Given the description of an element on the screen output the (x, y) to click on. 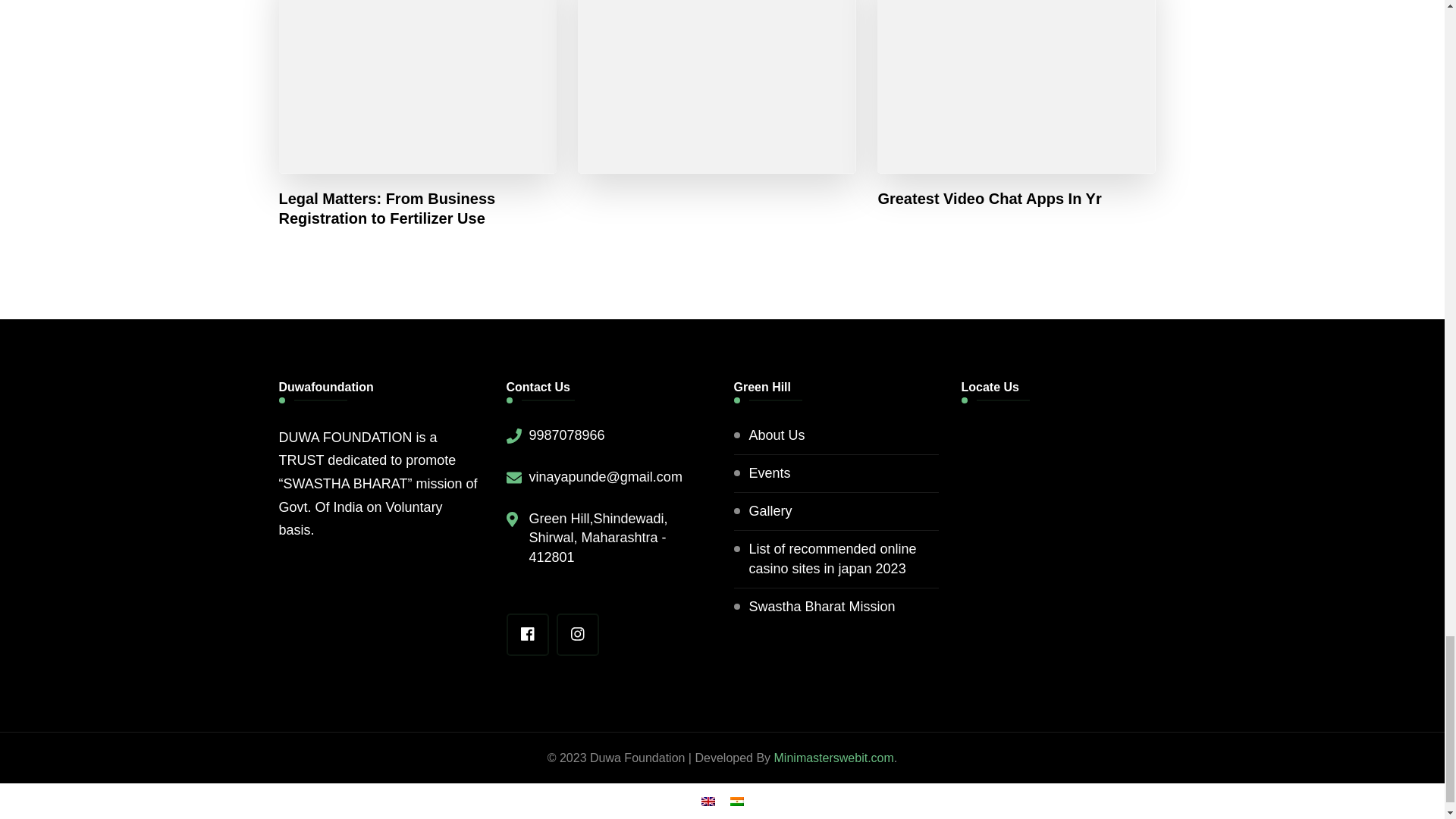
Greatest Video Chat Apps In Yr (988, 198)
9987078966 (567, 435)
Legal Matters: From Business Registration to Fertilizer Use (418, 208)
